Given the description of an element on the screen output the (x, y) to click on. 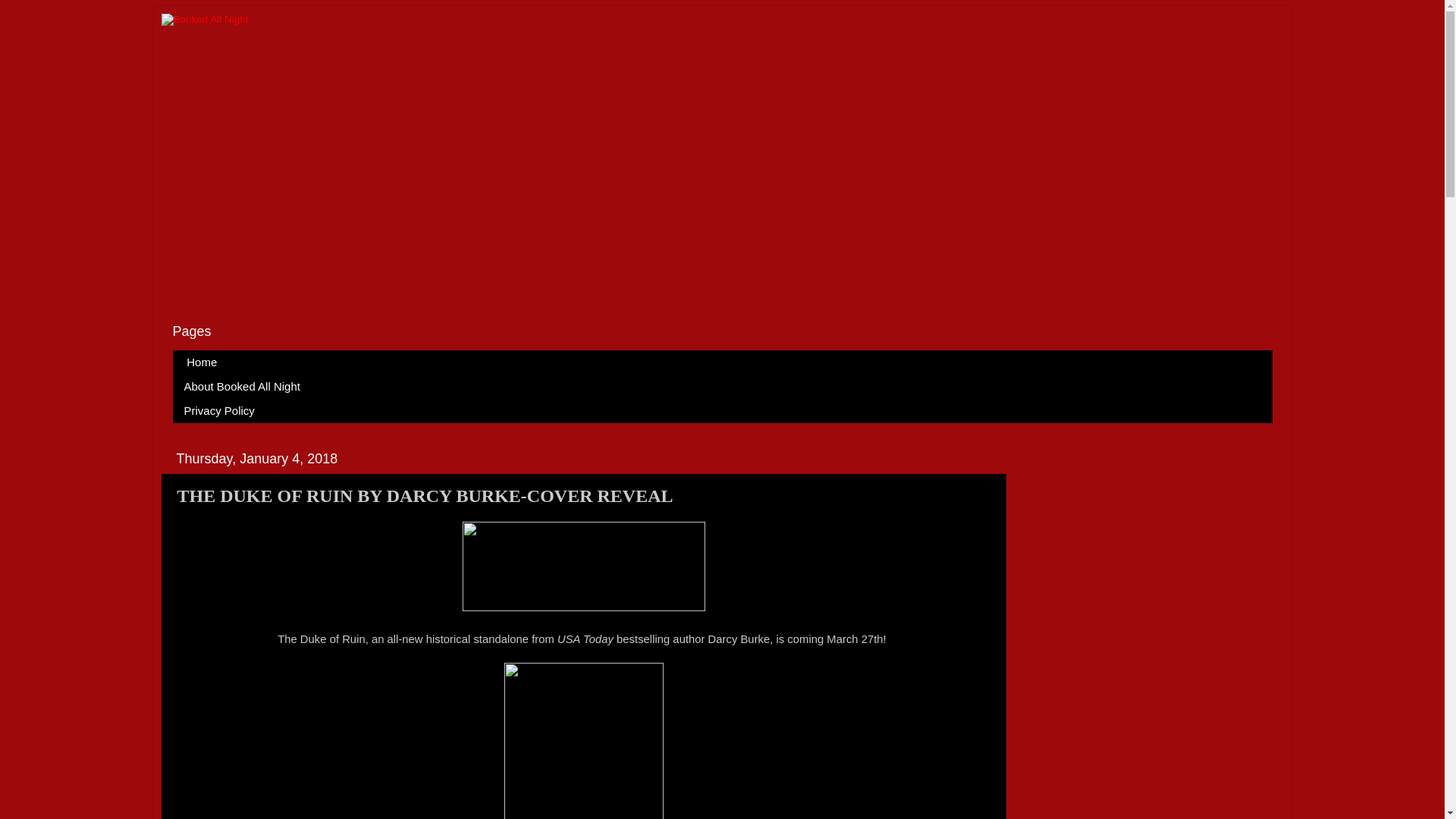
Privacy Policy (219, 410)
Home (201, 362)
About Booked All Night (243, 386)
